Given the description of an element on the screen output the (x, y) to click on. 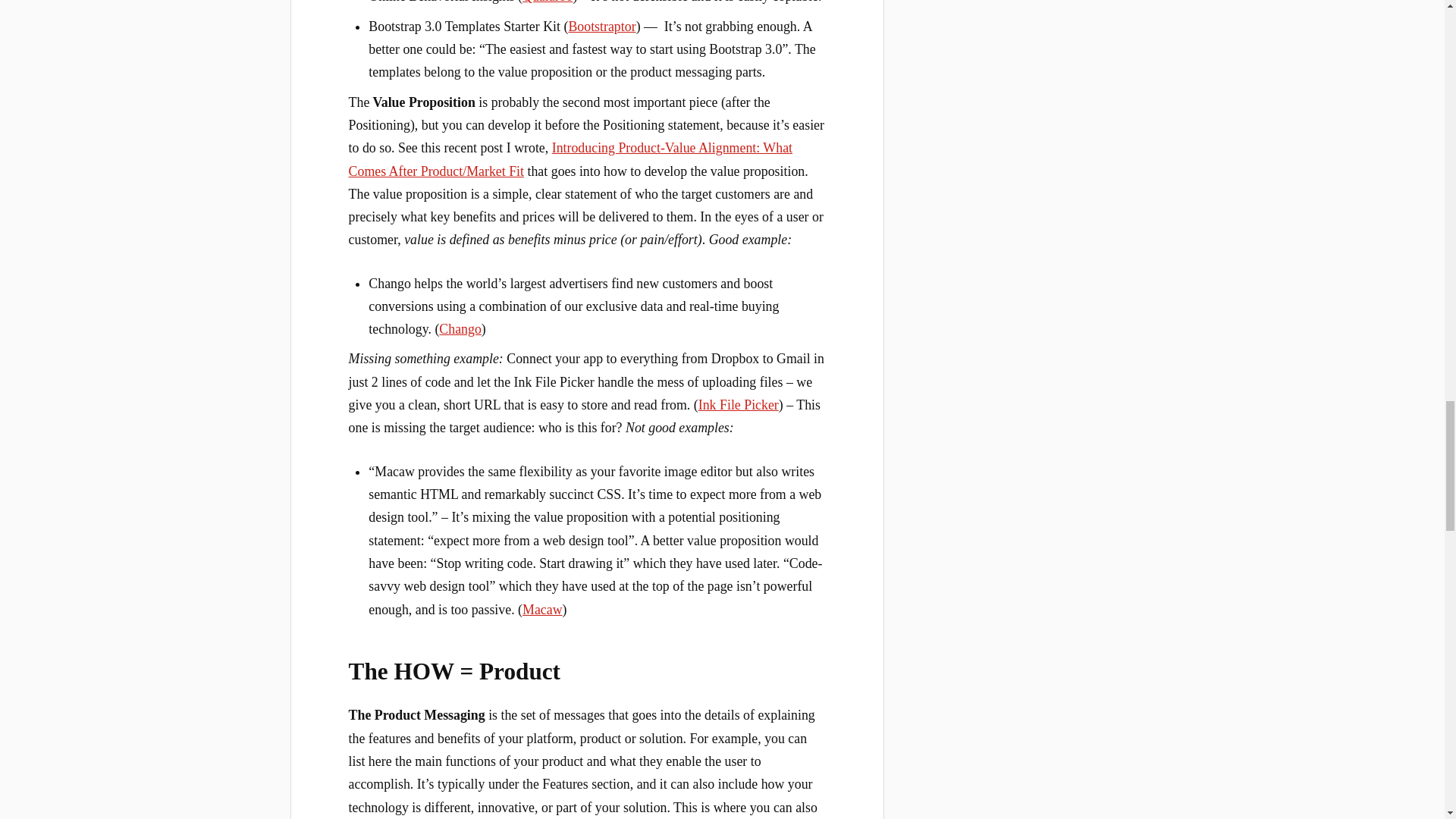
Qualaroo (547, 2)
Macaw (542, 609)
Bootstraptor (600, 26)
Ink File Picker (738, 404)
Macaw (542, 609)
Chango (460, 328)
